Given the description of an element on the screen output the (x, y) to click on. 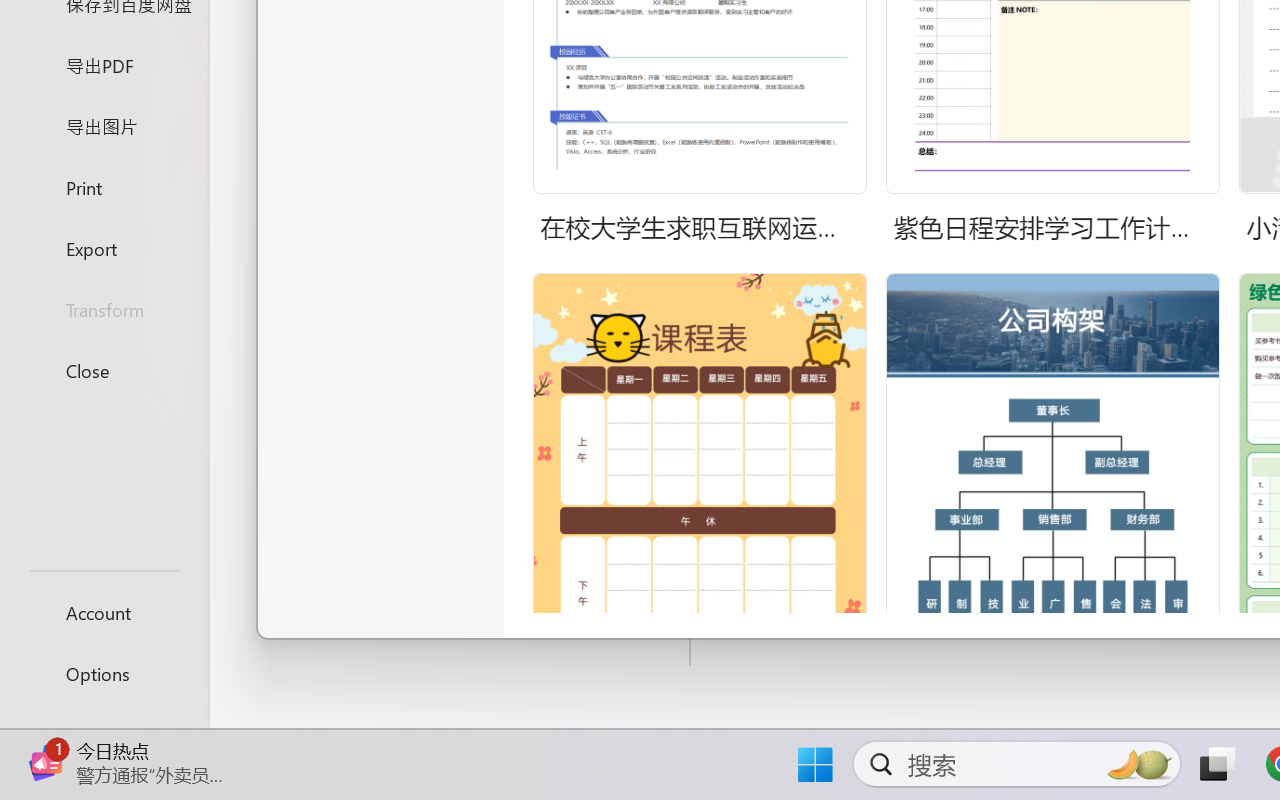
Options (104, 673)
Account (104, 612)
Transform (104, 309)
Print (104, 186)
Export (104, 248)
